Given the description of an element on the screen output the (x, y) to click on. 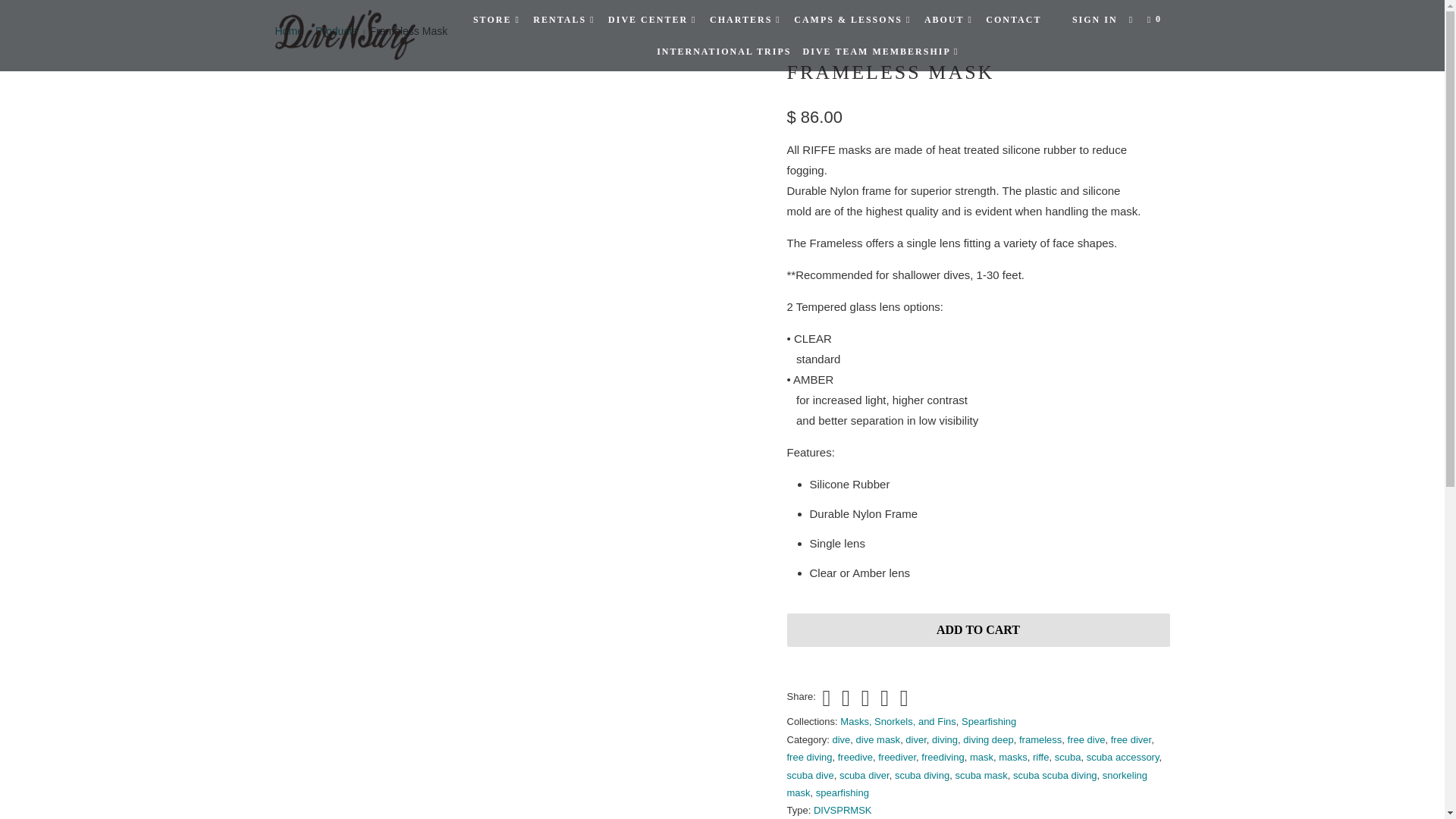
Products tagged dive (841, 739)
Masks, Snorkels, and Fins (897, 721)
Products (335, 30)
Dive N' Surf (352, 35)
Dive N' Surf (288, 30)
Products tagged dive mask (878, 739)
My Account  (1094, 19)
Products tagged diving (944, 739)
Spearfishing (988, 721)
Products tagged diver (915, 739)
